Given the description of an element on the screen output the (x, y) to click on. 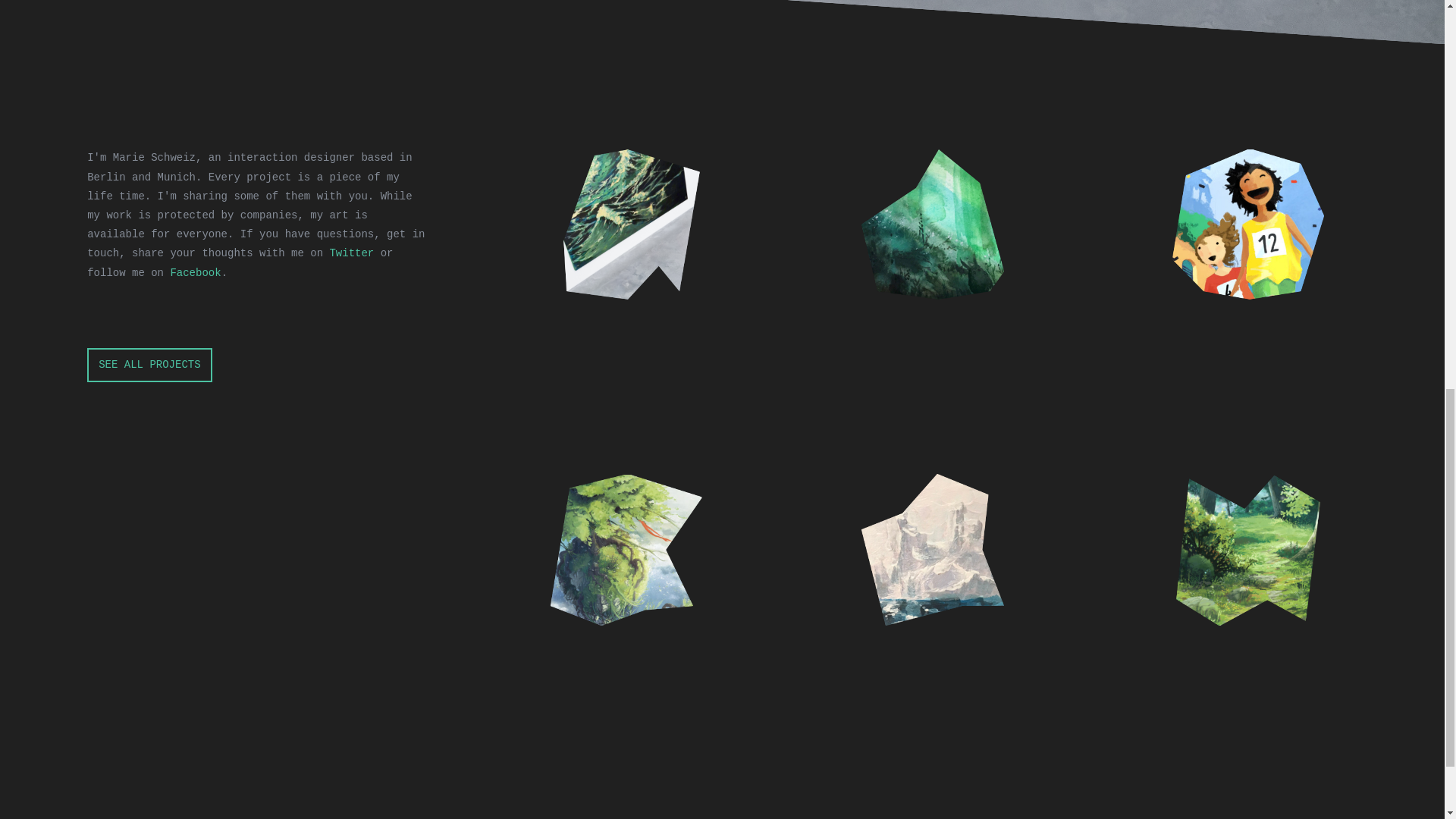
Twitter (351, 253)
SEE ALL PROJECTS (149, 365)
Facebook (195, 272)
